Given the description of an element on the screen output the (x, y) to click on. 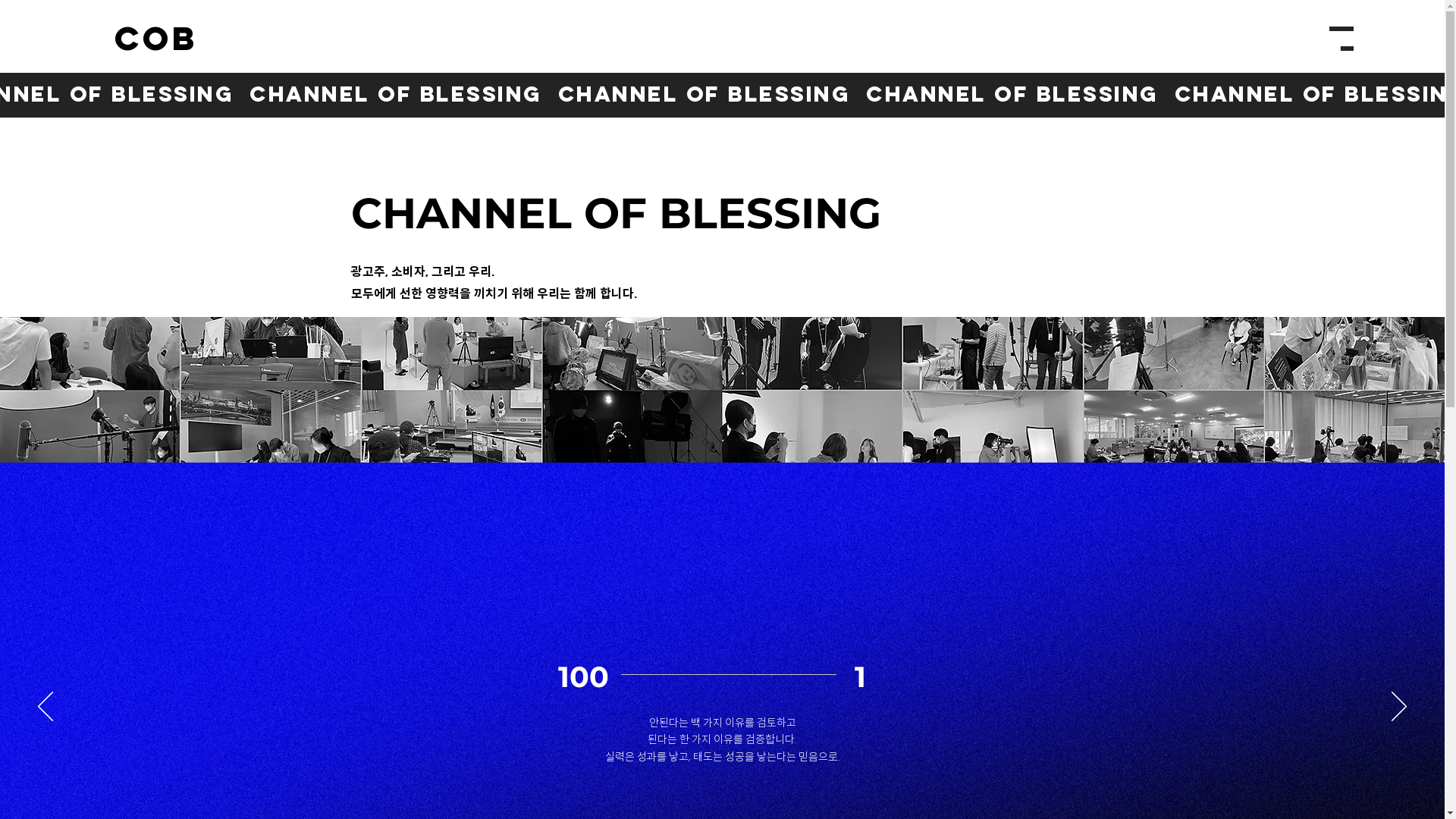
COB Element type: text (155, 39)
